Given the description of an element on the screen output the (x, y) to click on. 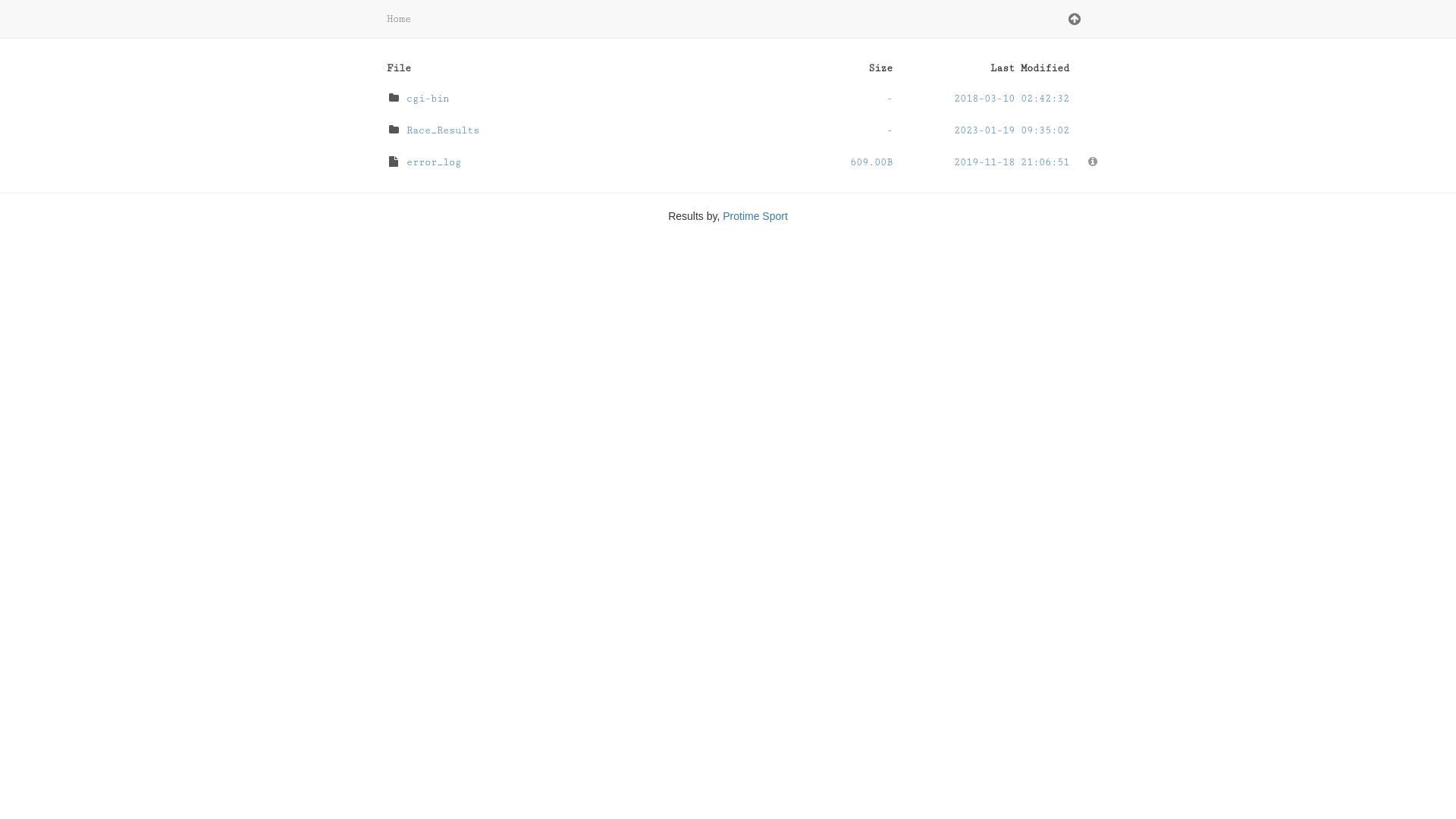
Protime Sport Element type: text (754, 216)
error_log
609.00B
2019-11-18 21:06:51 Element type: text (727, 162)
cgi-bin
-
2018-03-10 02:42:32 Element type: text (727, 98)
Race_Results
-
2023-01-19 09:35:02 Element type: text (727, 130)
